Given the description of an element on the screen output the (x, y) to click on. 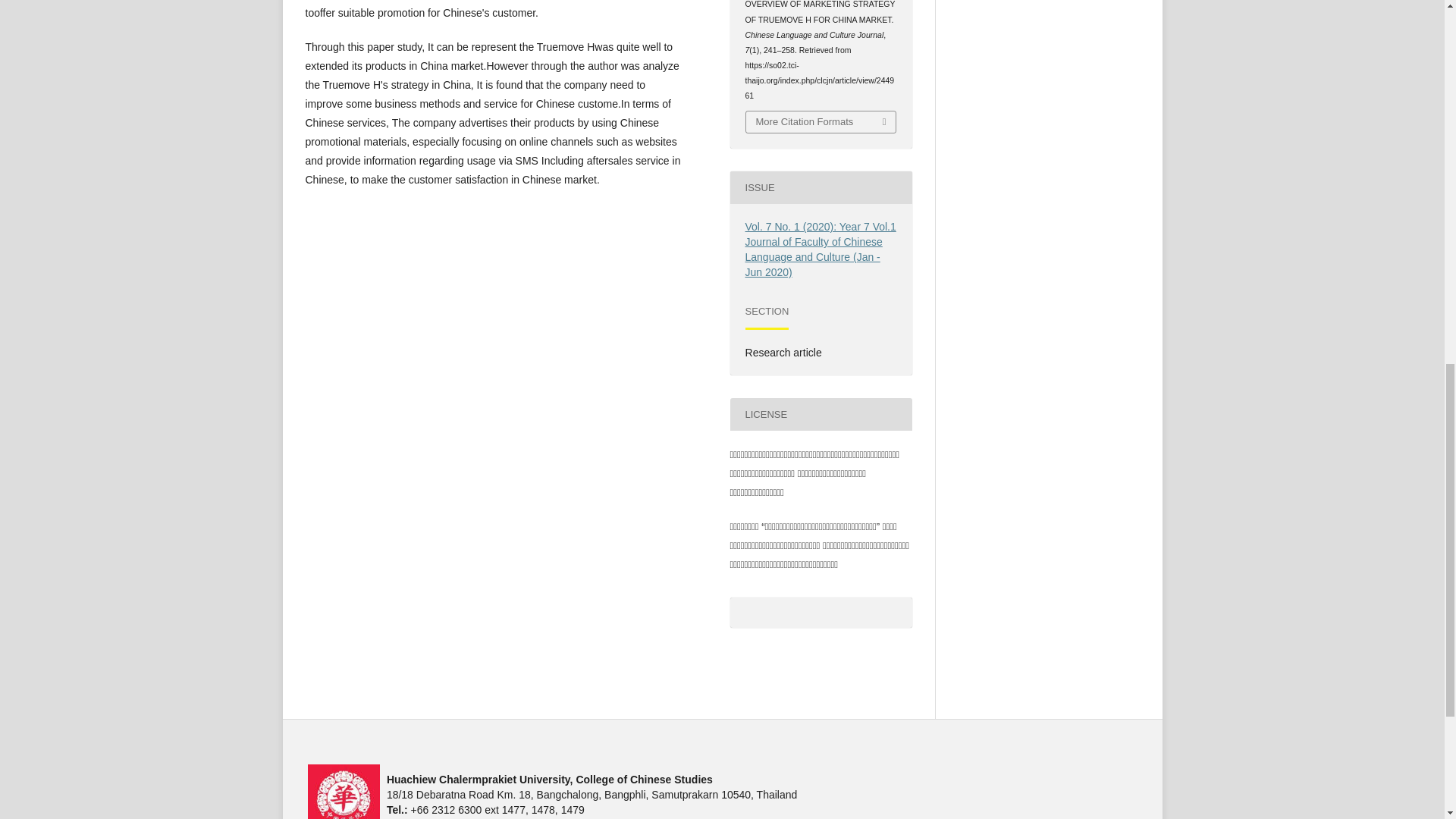
More Citation Formats (820, 121)
